Given the description of an element on the screen output the (x, y) to click on. 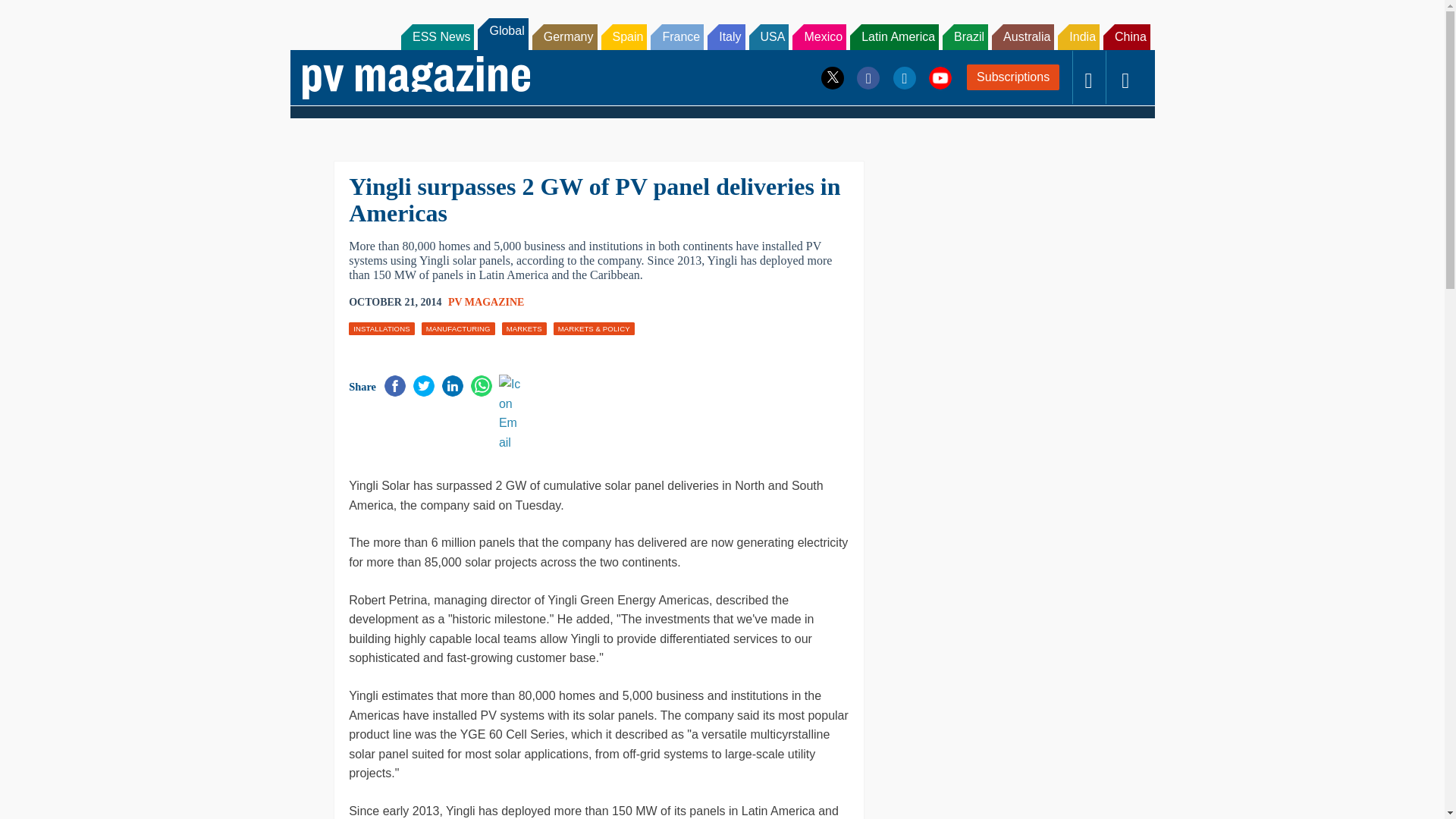
pv magazine - Photovoltaics Markets and Technology (415, 77)
Search (32, 15)
Brazil (965, 36)
Germany (564, 36)
Italy (725, 36)
USA (769, 36)
Spain (622, 36)
Subscriptions (1012, 77)
Mexico (818, 36)
Posts by pv magazine (486, 301)
